Given the description of an element on the screen output the (x, y) to click on. 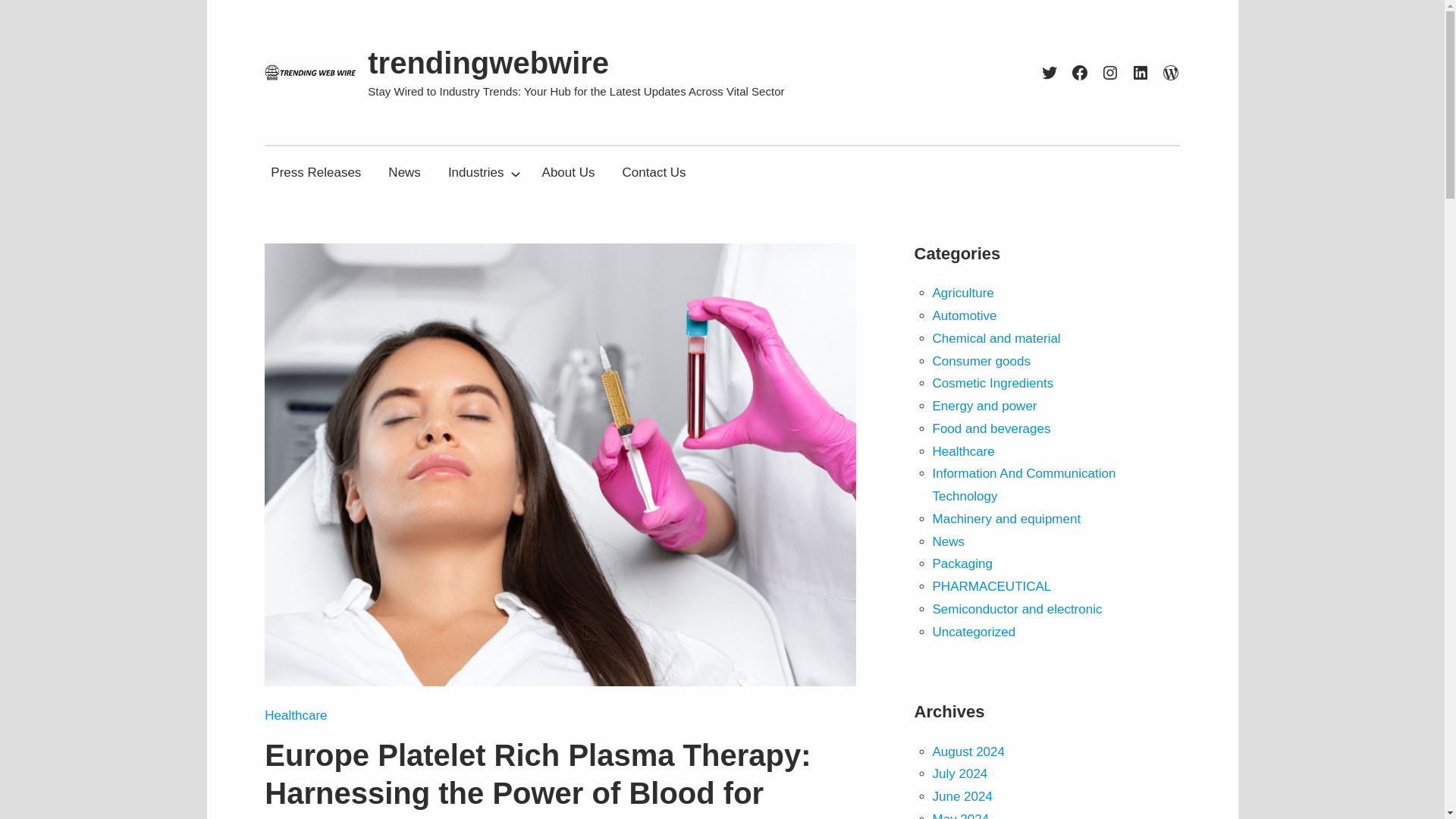
Facebook (1079, 72)
WordPress (1170, 72)
Contact Us (654, 172)
Industries (476, 172)
Press Releases (315, 172)
LinkedIn (1140, 72)
Healthcare (295, 715)
Twitter (1049, 72)
About Us (568, 172)
trendingwebwire (488, 62)
